Given the description of an element on the screen output the (x, y) to click on. 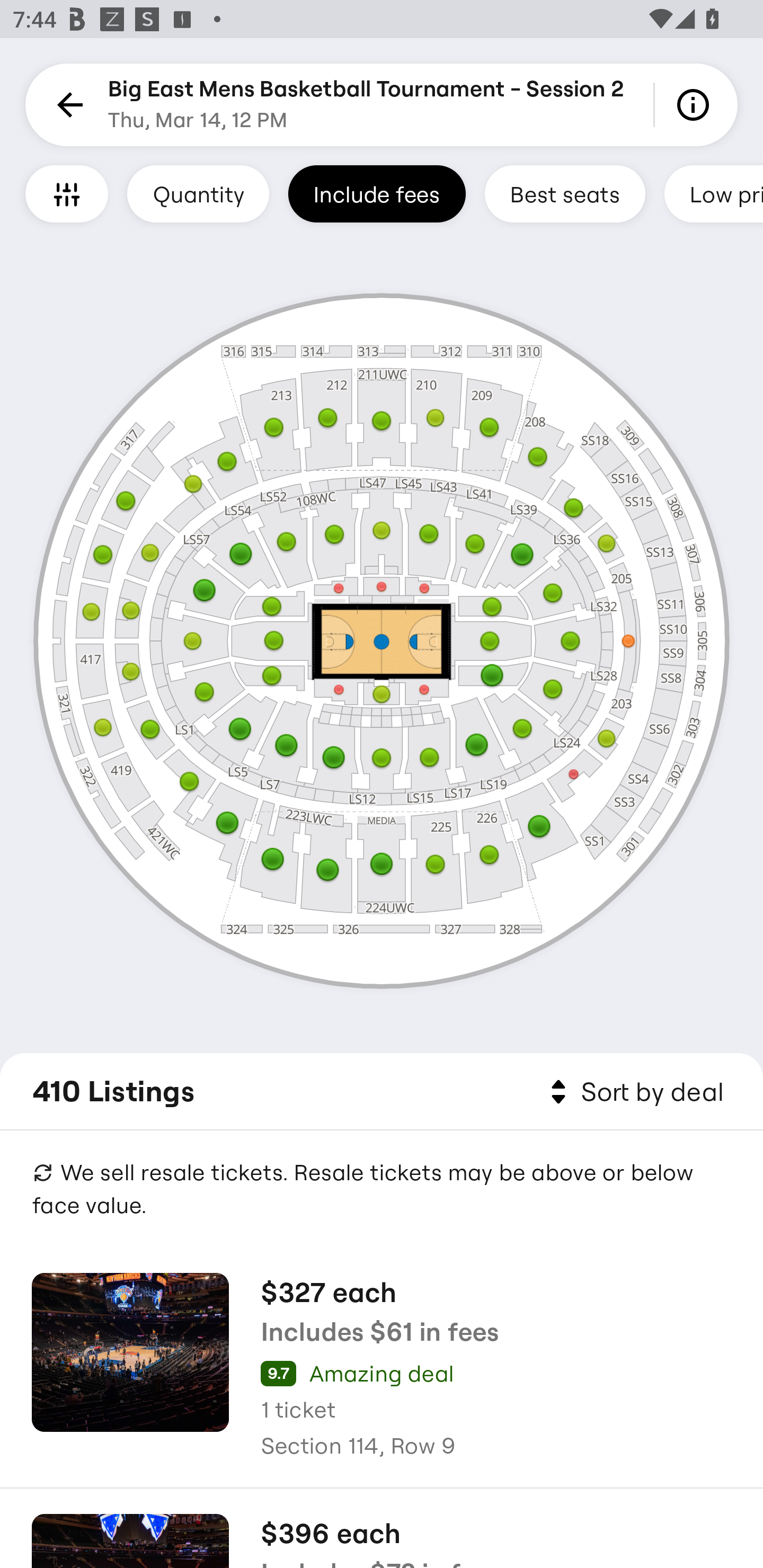
Back (66, 104)
Info (695, 104)
Filters and Accessible Seating (66, 193)
Quantity (198, 193)
Include fees (376, 193)
Best seats (564, 193)
Sort by deal (633, 1091)
